Given the description of an element on the screen output the (x, y) to click on. 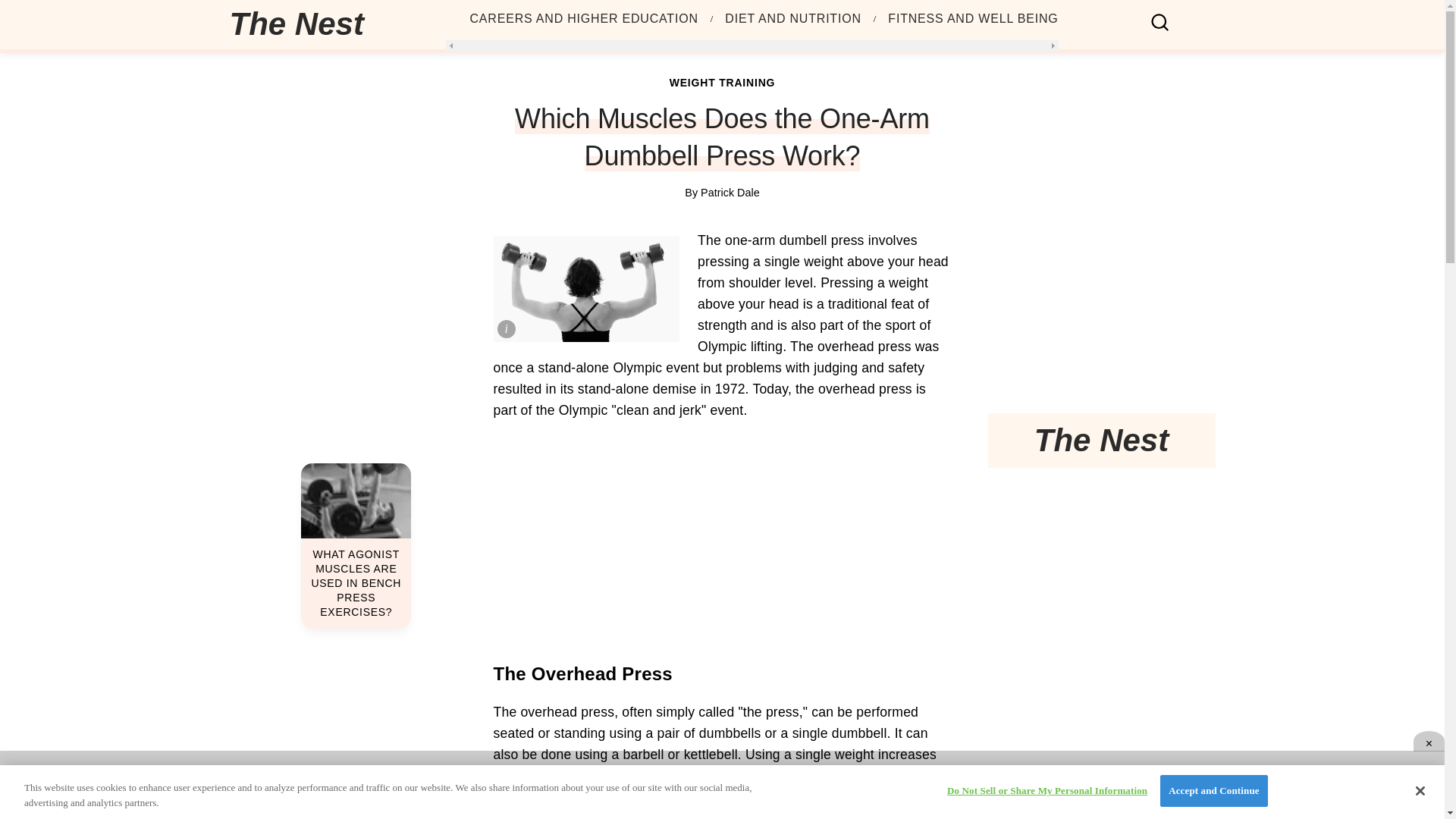
The Nest (301, 23)
The Nest (295, 23)
DIET AND NUTRITION (792, 19)
Do Not Sell or Share My Personal Information (1047, 790)
WHAT AGONIST MUSCLES ARE USED IN BENCH PRESS EXERCISES? (355, 545)
3rd party ad content (721, 785)
FITNESS AND WELL BEING (973, 19)
Accept and Continue (1213, 790)
WEIGHT TRAINING (722, 82)
3rd party ad content (721, 539)
3rd party ad content (1100, 312)
3rd party ad content (1100, 568)
CAREERS AND HIGHER EDUCATION (584, 19)
